Given the description of an element on the screen output the (x, y) to click on. 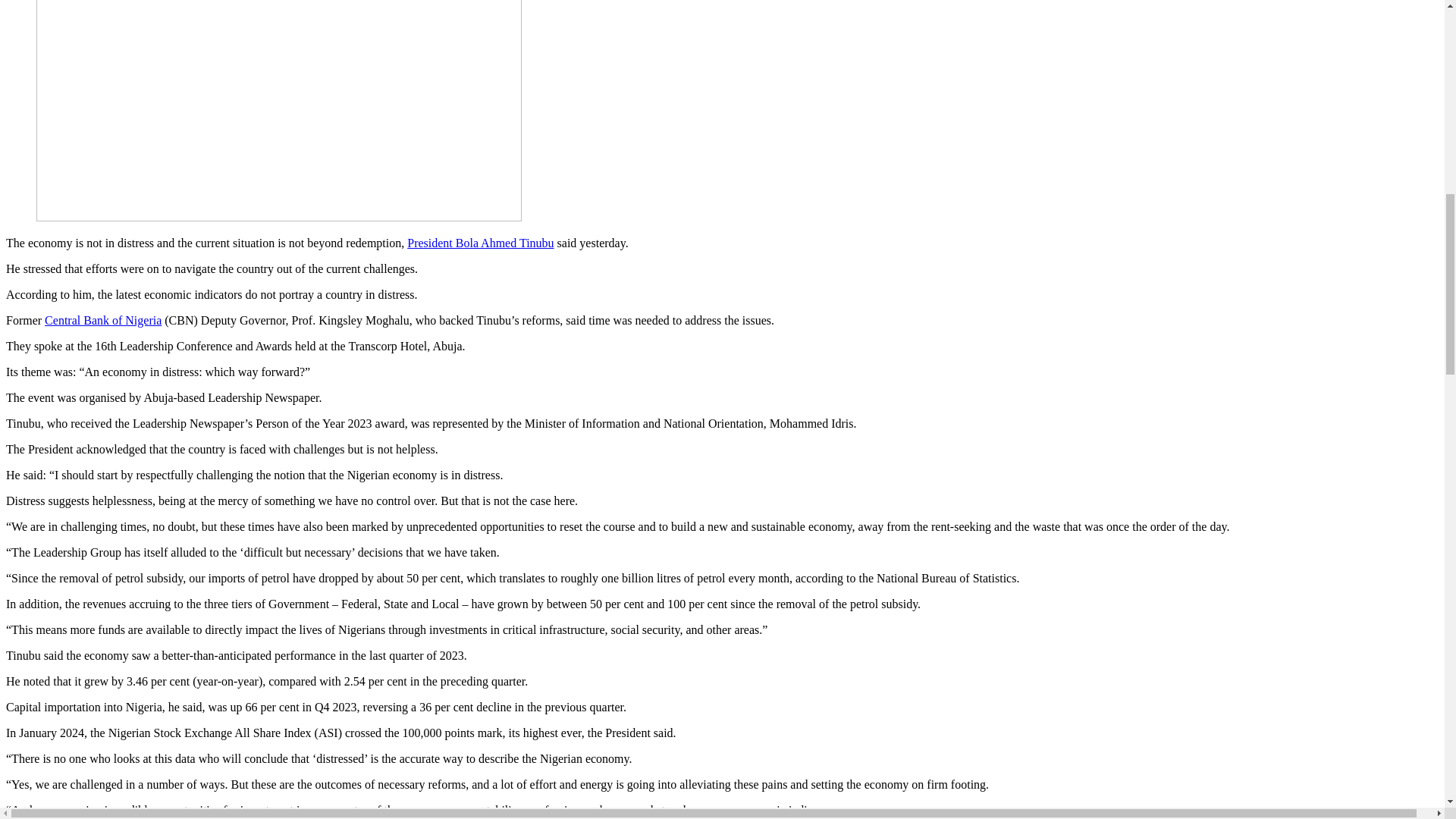
Central Bank of Nigeria (103, 319)
President Bola Ahmed Tinubu (480, 242)
